Given the description of an element on the screen output the (x, y) to click on. 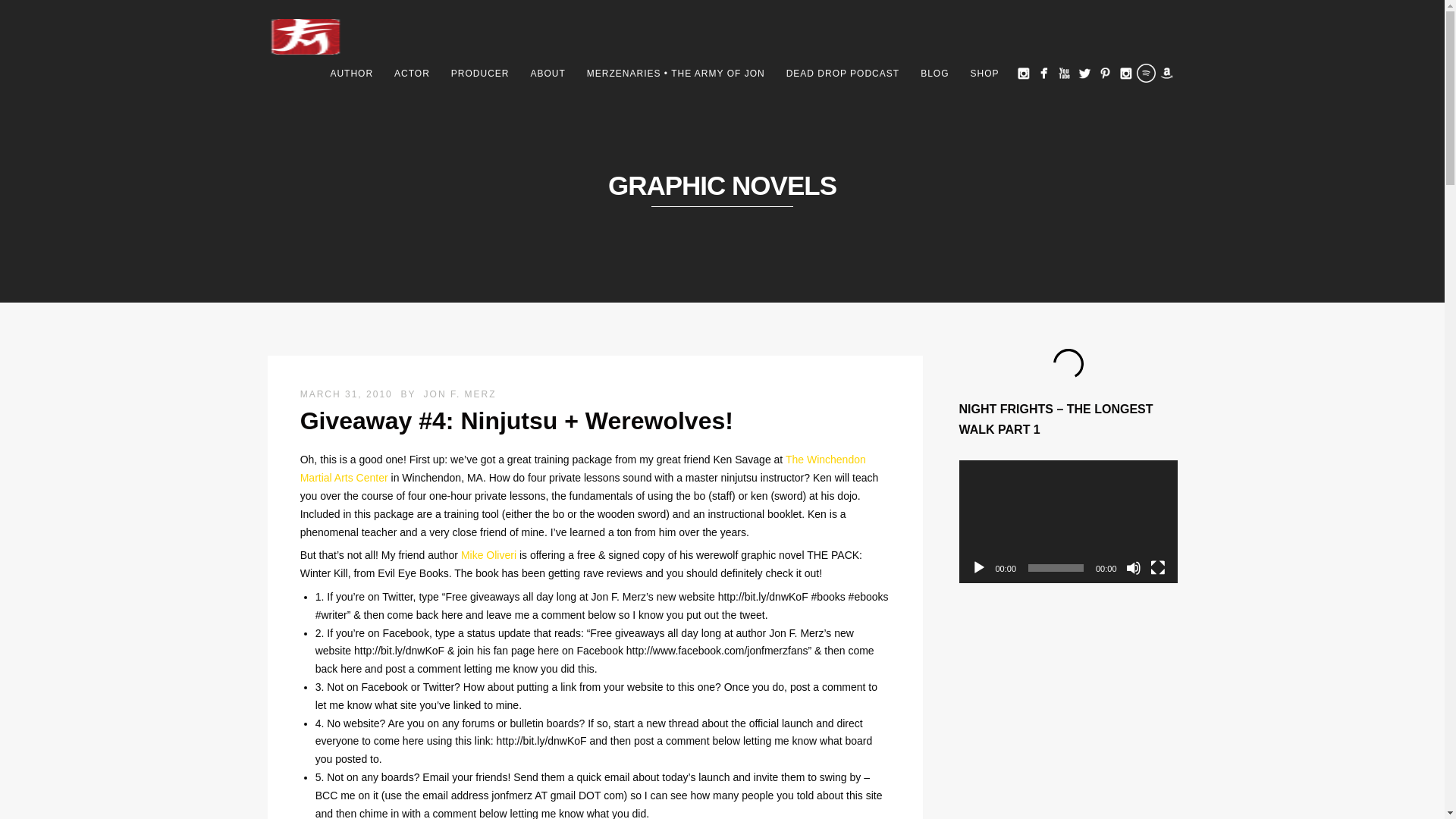
Play (978, 567)
AUTHOR (351, 73)
Fullscreen (1157, 567)
PRODUCER (480, 73)
Jon's Twitter Feed (1084, 72)
Jon's Channel on YouTube (1063, 72)
Jon's Facebook Fan Page (1042, 72)
Jon's Page on Spotify (1144, 72)
Mute (1132, 567)
ACTOR (412, 73)
